Given the description of an element on the screen output the (x, y) to click on. 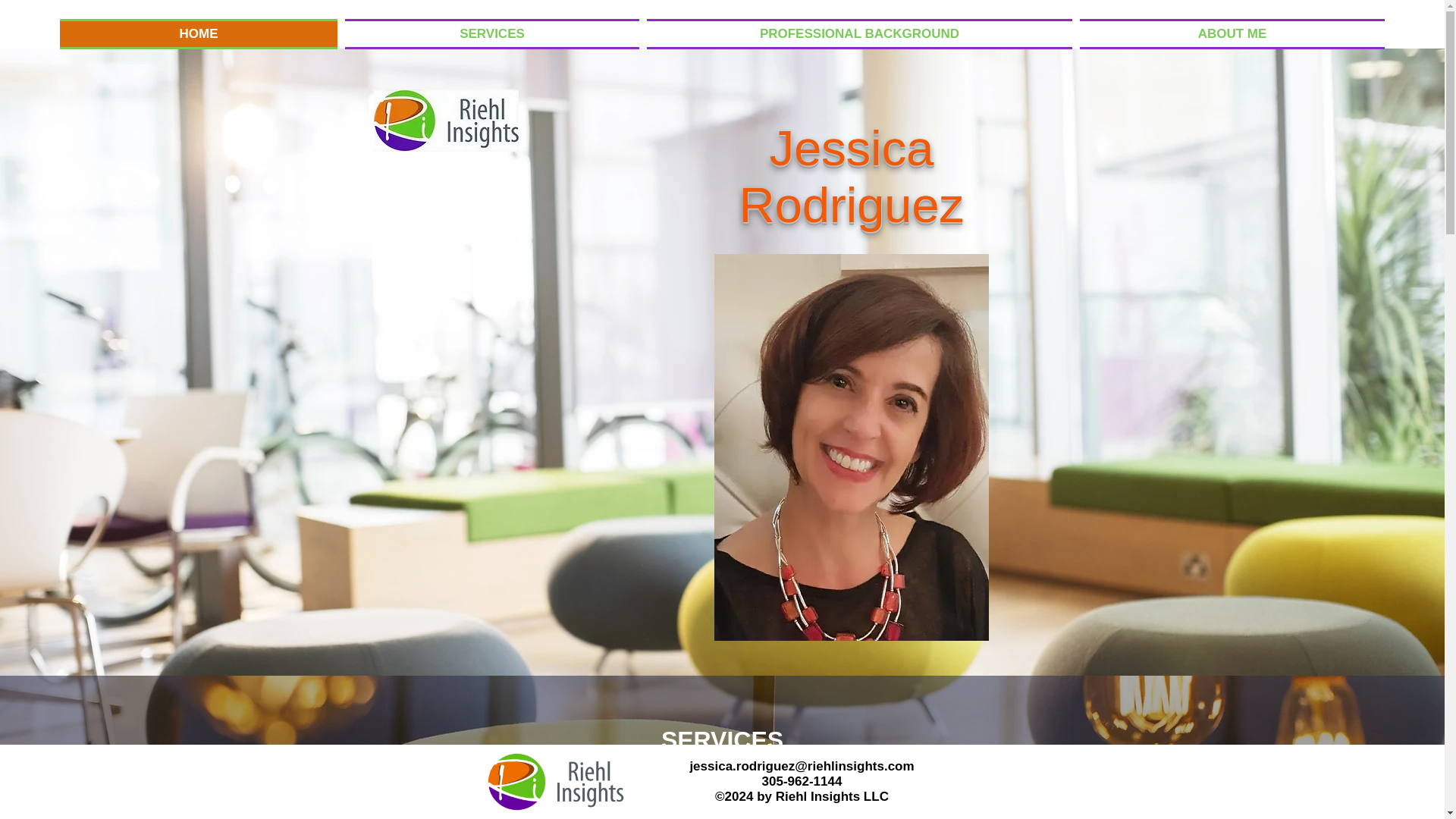
PROFESSIONAL BACKGROUND (859, 33)
HOME (199, 33)
SERVICES (491, 33)
ABOUT ME (1229, 33)
Jessica Rodriguez (851, 176)
